Given the description of an element on the screen output the (x, y) to click on. 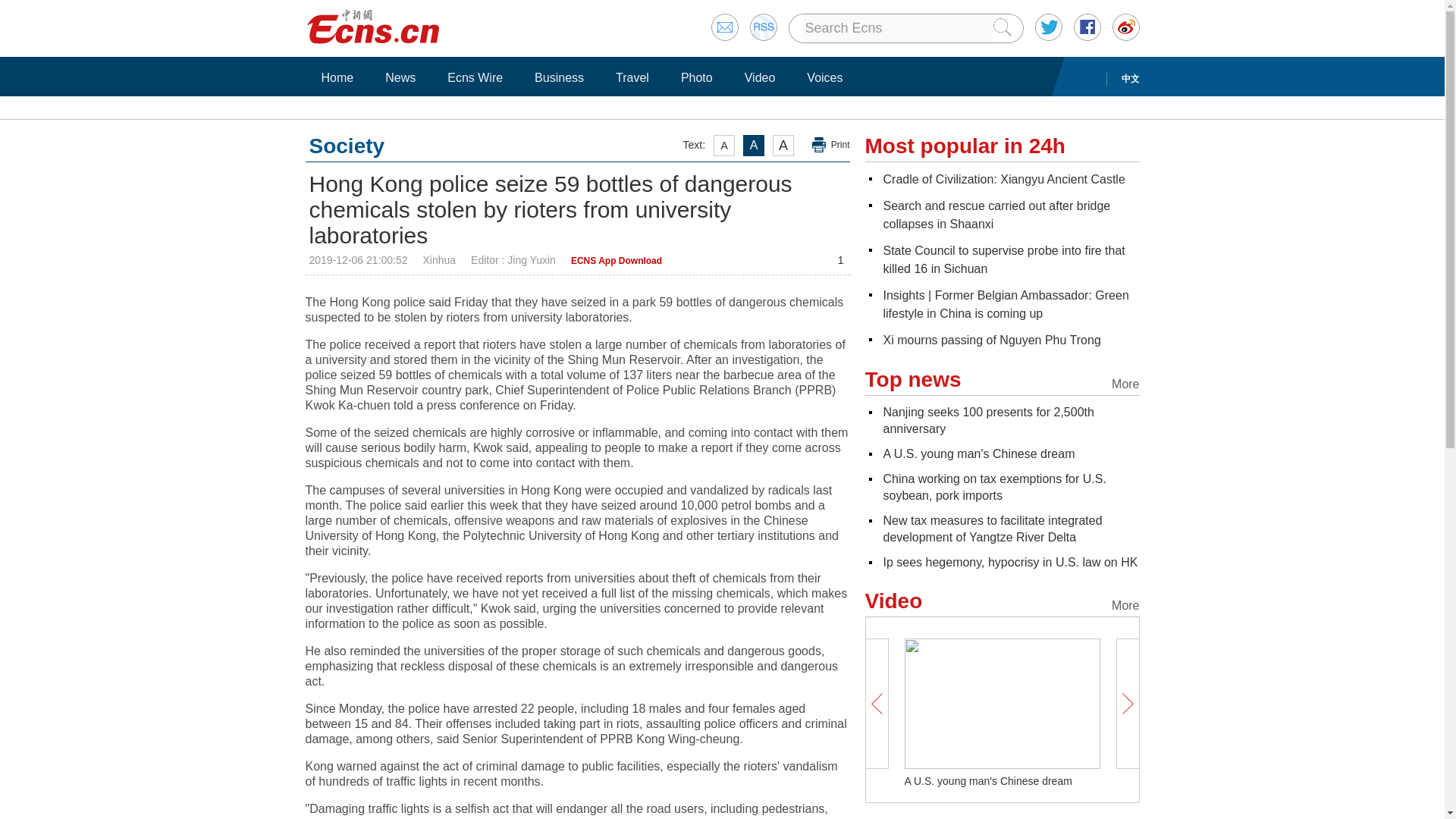
Cradle (1003, 178)
Business (558, 77)
News (400, 77)
Search (995, 214)
Ecns Wire (475, 77)
Photo (696, 77)
Print (831, 144)
Xi (991, 339)
Travel (632, 77)
Voices (823, 77)
Video (760, 77)
Search Ecns (897, 27)
ECNS App Download (616, 260)
Insights (1005, 304)
State (1003, 259)
